Given the description of an element on the screen output the (x, y) to click on. 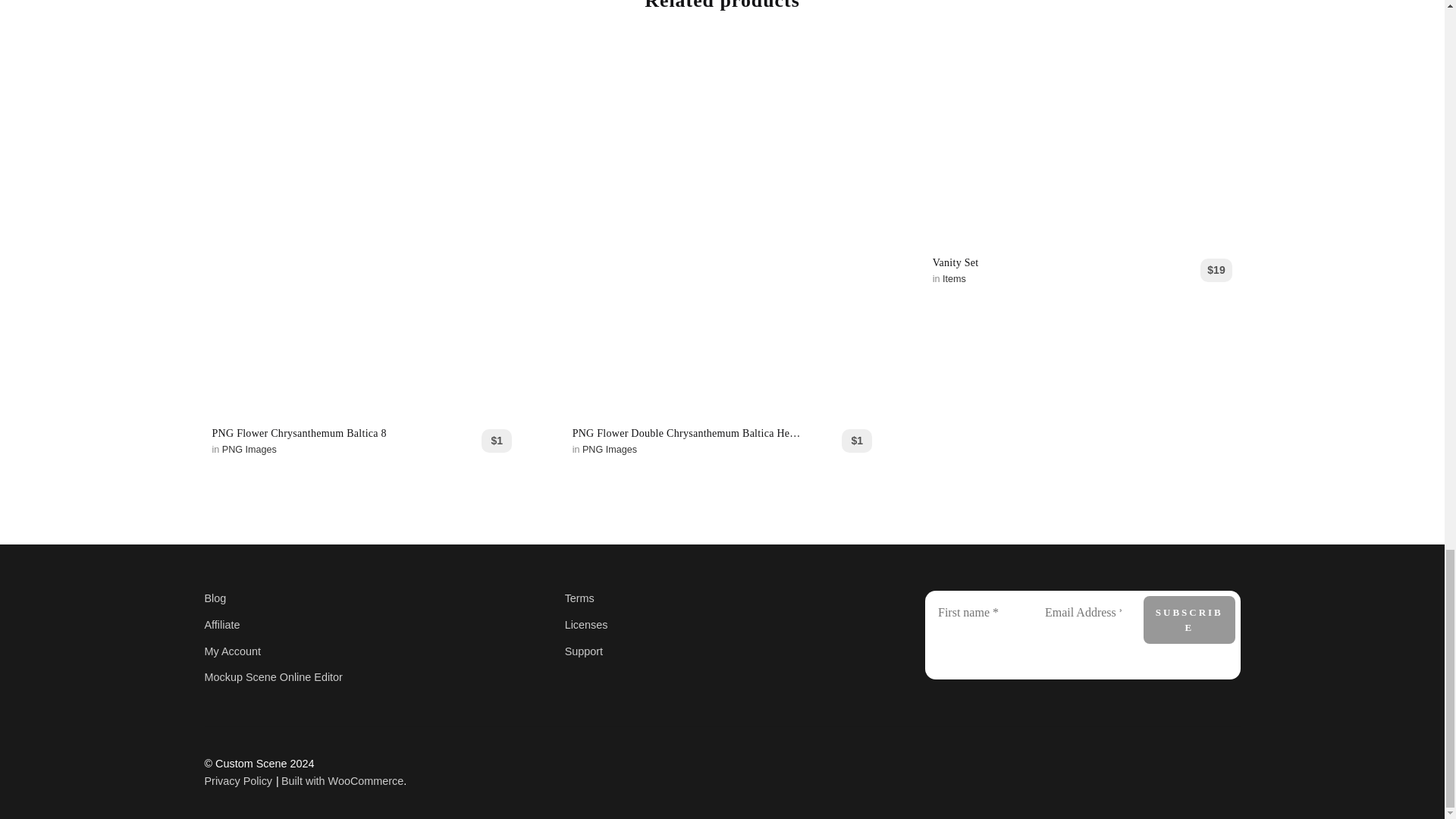
First name (976, 612)
Email Address (1082, 612)
Subscribe (1188, 619)
WooCommerce - The Best eCommerce Platform for WordPress (342, 780)
